Given the description of an element on the screen output the (x, y) to click on. 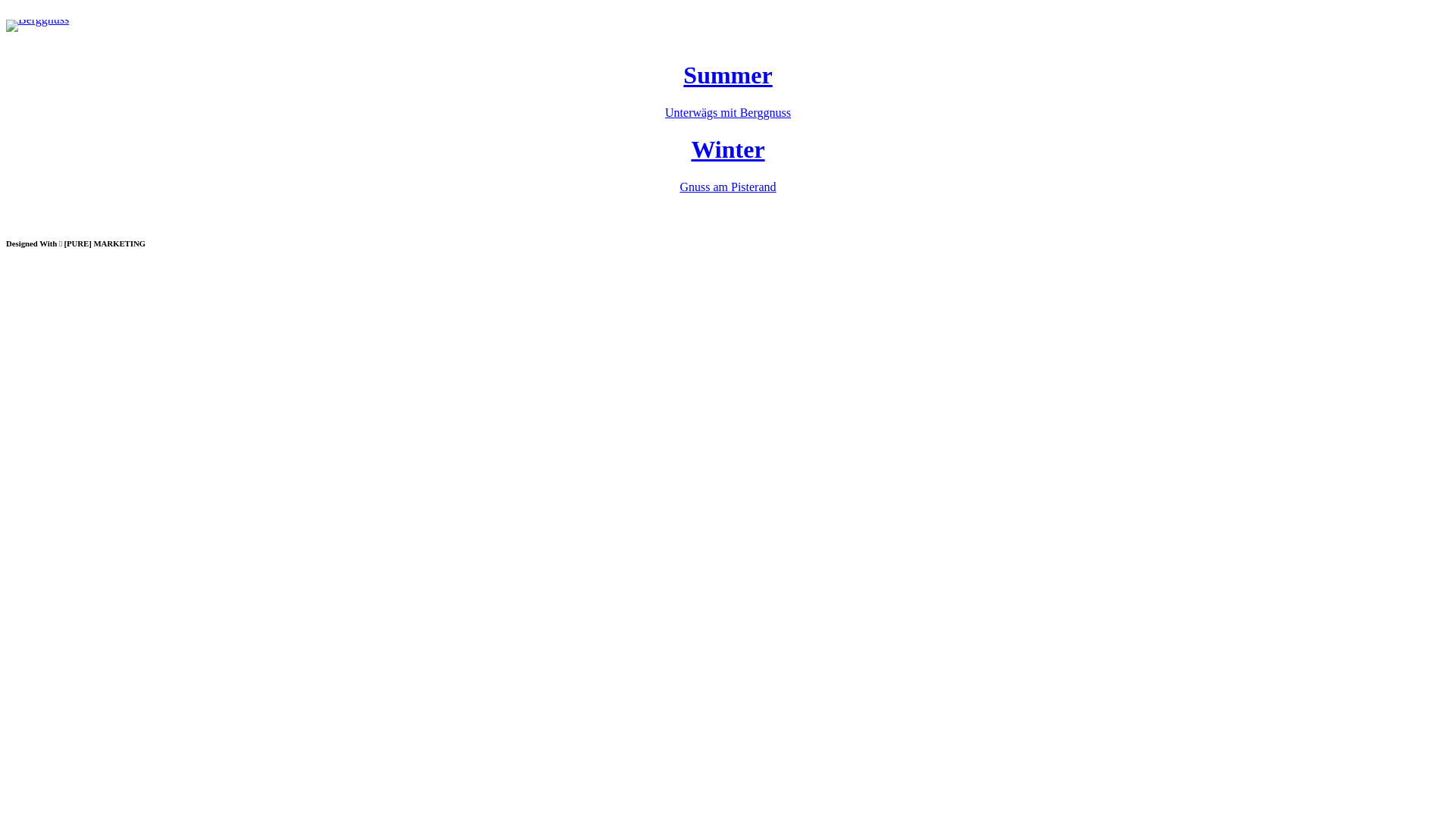
Summer Element type: text (727, 74)
Winter Element type: text (727, 149)
Gnuss am Pisterand Element type: text (727, 186)
